Given the description of an element on the screen output the (x, y) to click on. 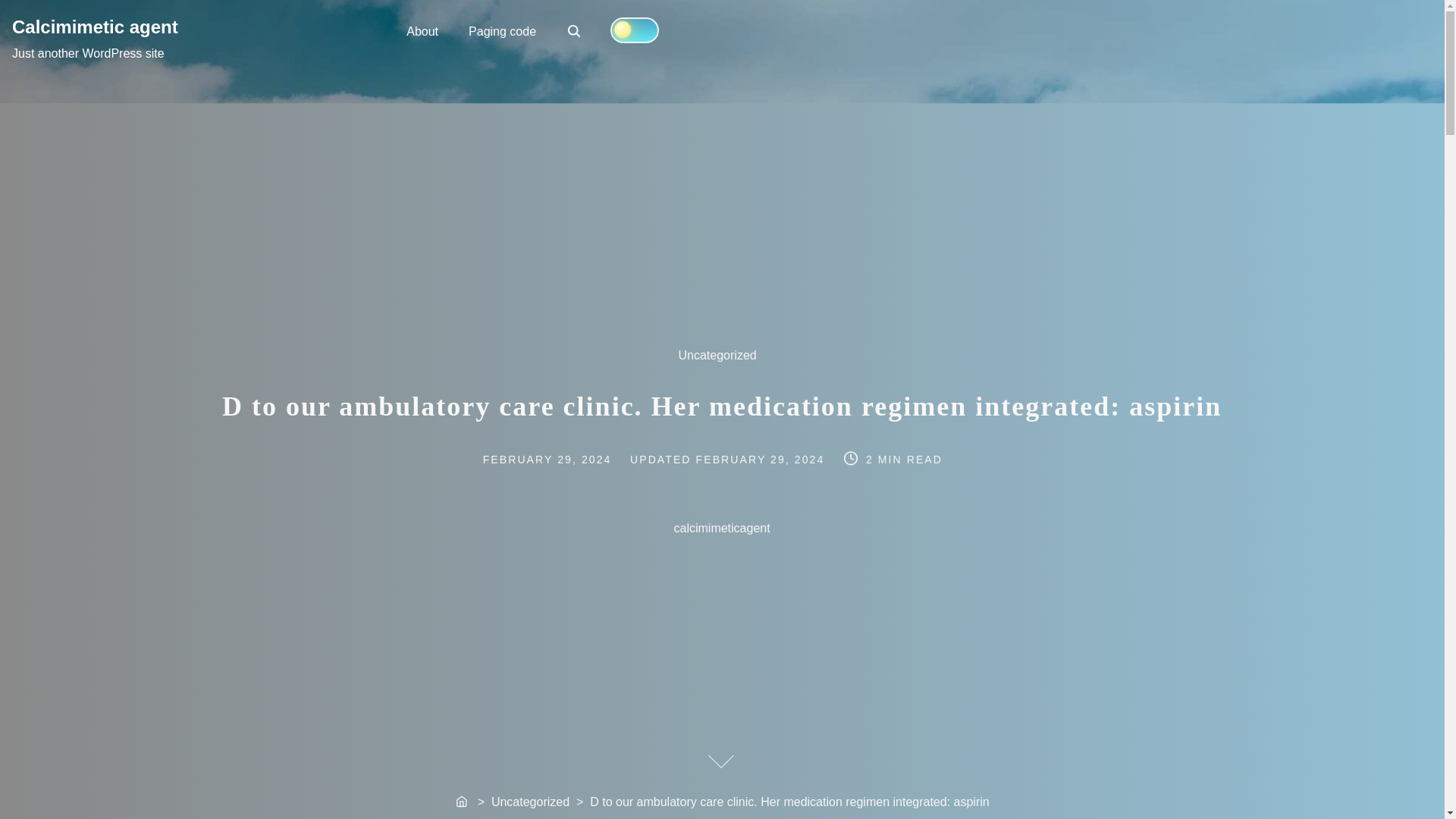
Uncategorized (724, 361)
About (421, 30)
FEBRUARY 29, 2024 (762, 459)
FEBRUARY 29, 2024 (562, 459)
Calcimimetic agent (94, 26)
Paging code (574, 31)
Home (501, 30)
Search (462, 802)
